Given the description of an element on the screen output the (x, y) to click on. 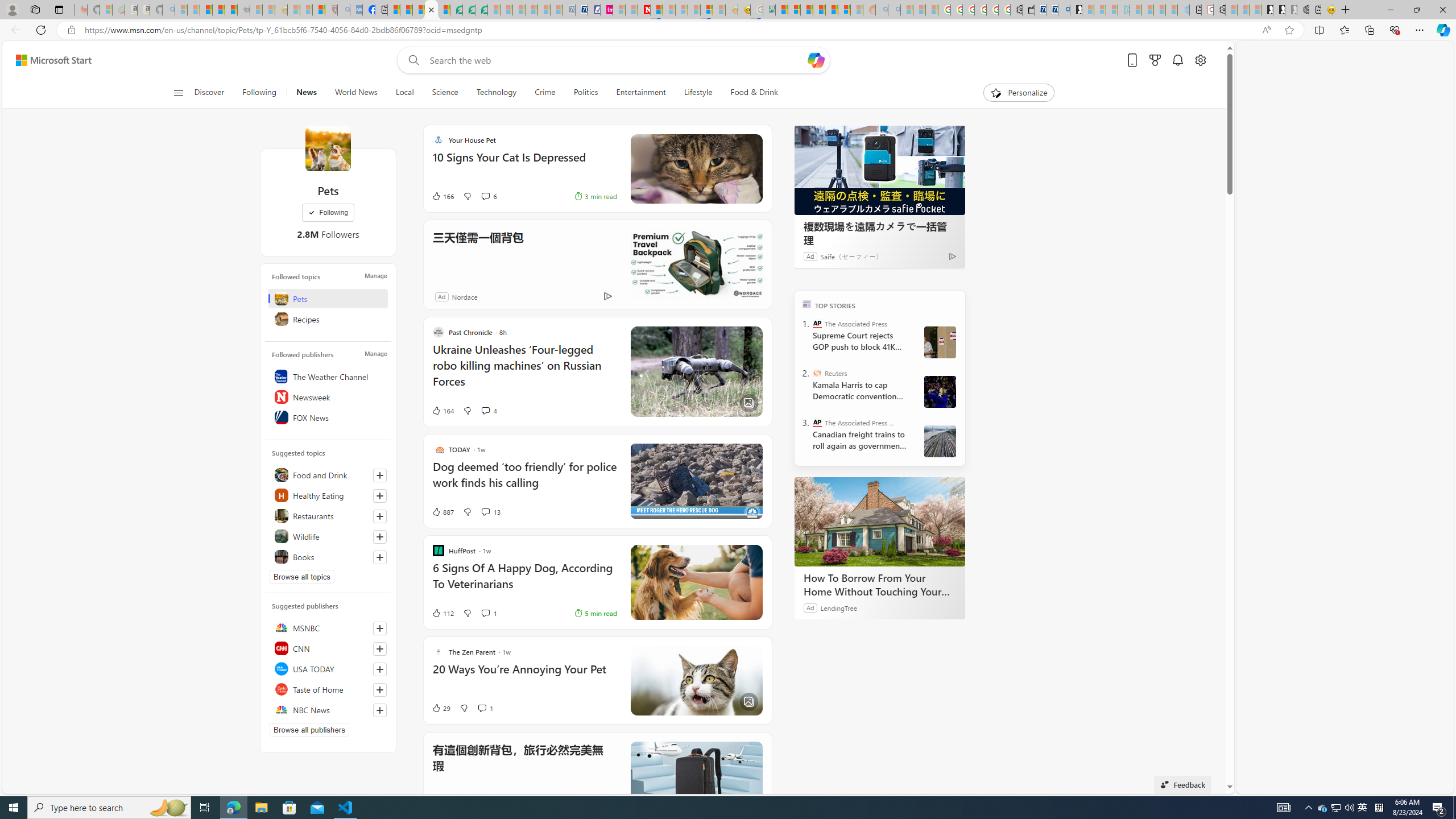
Follow this source (379, 710)
6 Signs Of A Happy Dog, According To Veterinarians (524, 581)
Bing Real Estate - Home sales and rental listings (1063, 9)
112 Like (442, 613)
Pets - MSN (431, 9)
FOX News (327, 417)
